Given the description of an element on the screen output the (x, y) to click on. 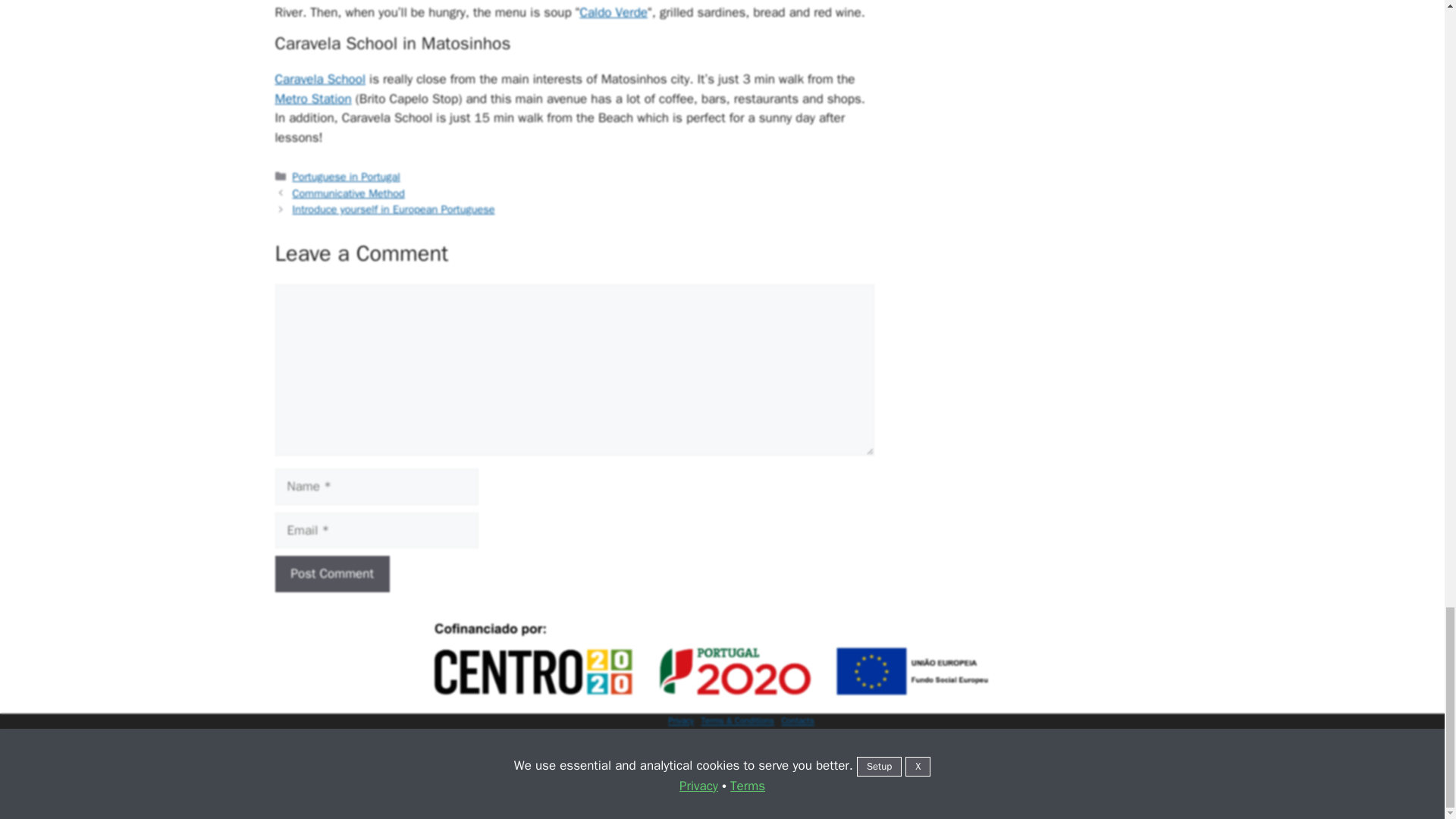
Consultoria SEO (746, 810)
Communicative Method (348, 192)
Portuguese in Portugal (346, 176)
Introduce yourself in European Portuguese (393, 209)
Caravela School (320, 78)
Post Comment (331, 574)
Metro Station (312, 98)
Post Comment (331, 574)
Caldo Verde (613, 12)
